Given the description of an element on the screen output the (x, y) to click on. 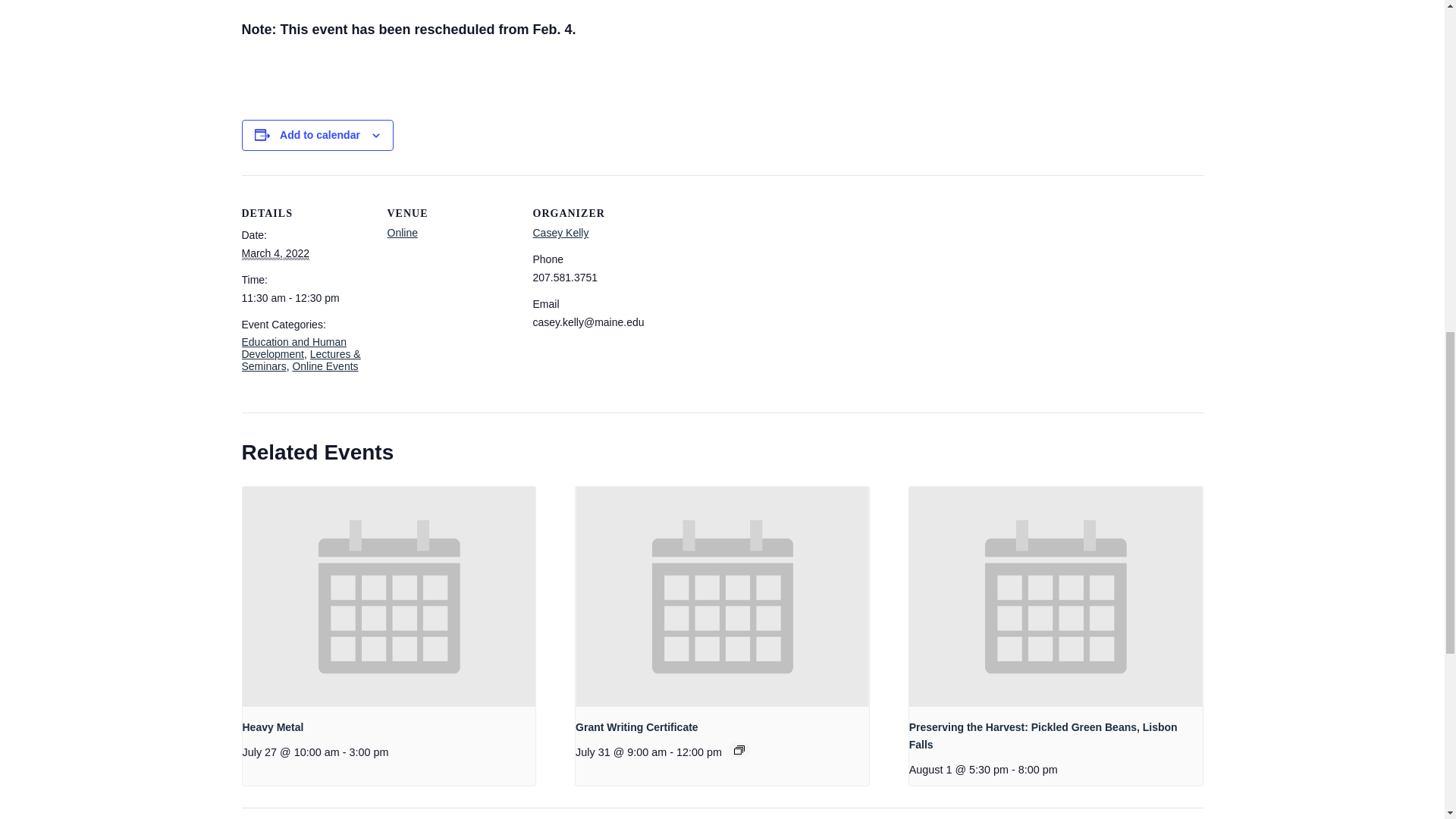
2022-03-04 (274, 253)
Event Series (738, 749)
2022-03-04 (304, 297)
Casey Kelly (560, 232)
